Given the description of an element on the screen output the (x, y) to click on. 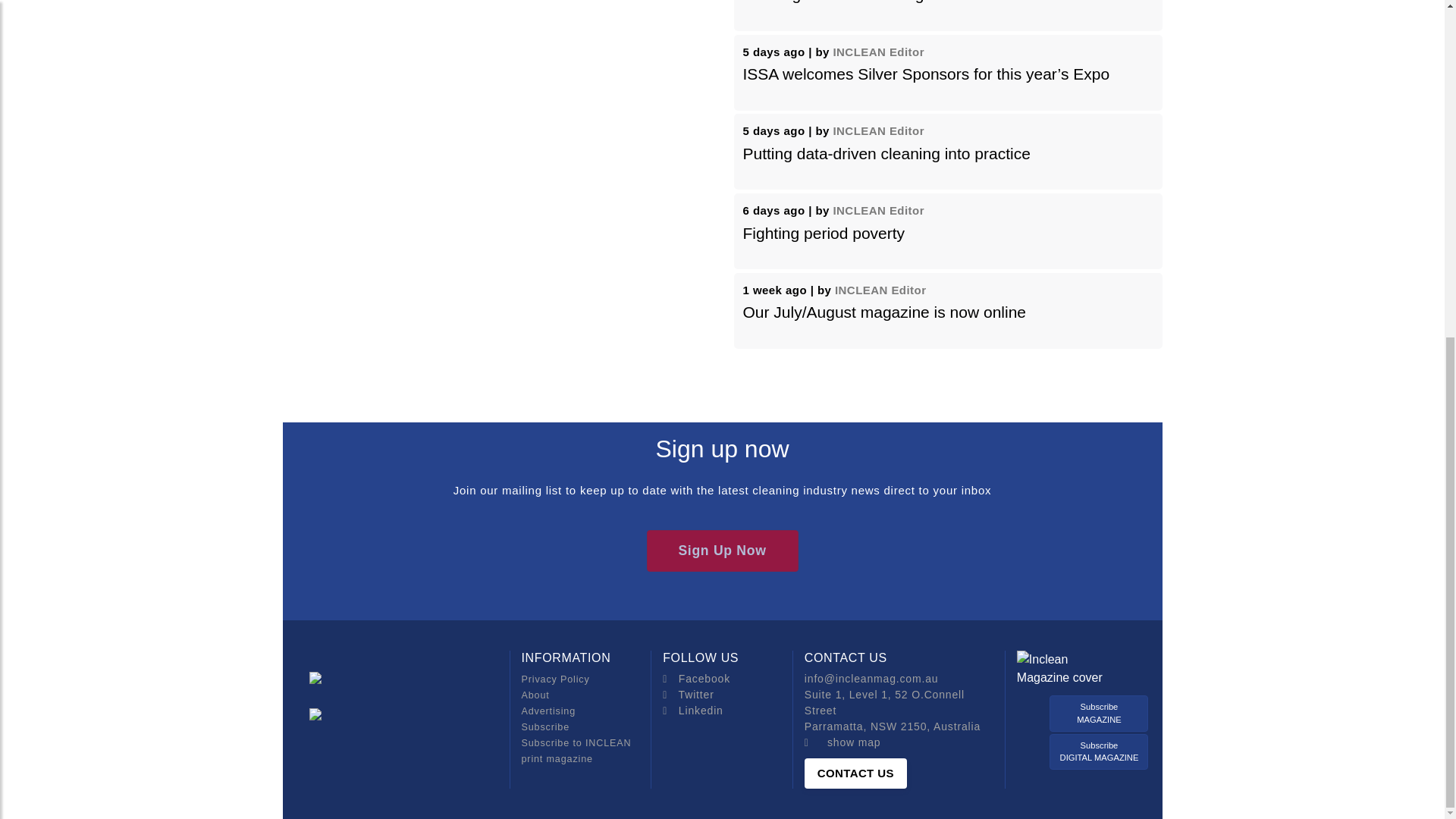
INCLEAN Editor (877, 130)
Privacy Policy (555, 679)
Sign Up Now (721, 564)
Working with the cleaning robots (857, 1)
Putting data-driven cleaning into practice (886, 153)
INCLEAN Editor (877, 51)
About (535, 695)
Fighting period poverty (823, 232)
INCLEAN Editor (877, 210)
INCLEAN Editor (880, 289)
Sign Up Now (721, 549)
Advertising (548, 710)
